Given the description of an element on the screen output the (x, y) to click on. 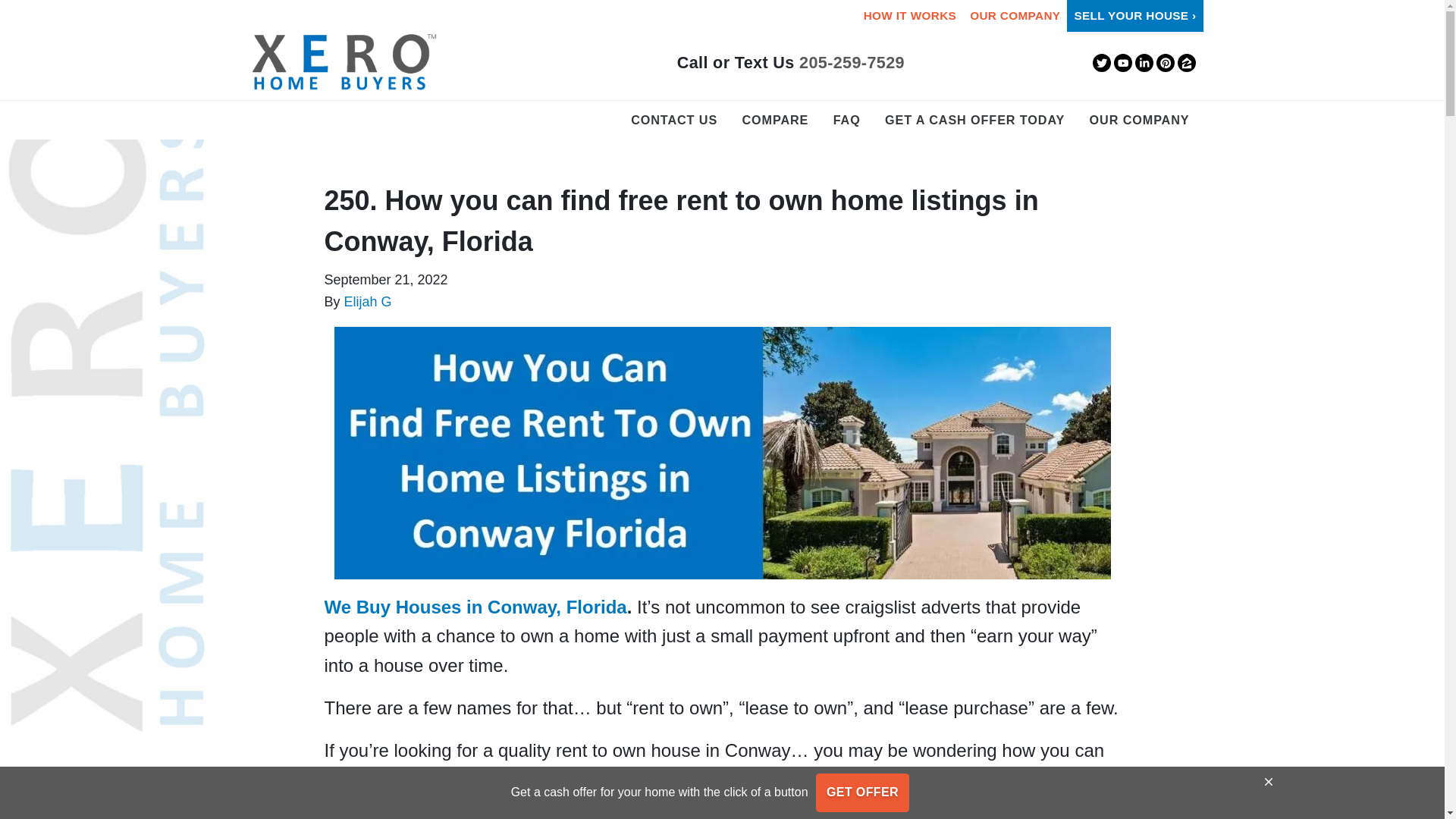
LinkedIn (1144, 63)
CONTACT US (673, 119)
OUR COMPANY (1014, 15)
Contact Us (673, 119)
COMPARE (775, 119)
YouTube (1122, 63)
Elijah G (367, 301)
FAQ (847, 119)
Get A Cash Offer Today (974, 119)
Pinterest (1165, 63)
OUR COMPANY (1139, 119)
GET A CASH OFFER TODAY (974, 119)
FAQ (847, 119)
We Buy Houses in Conway, Florida (475, 607)
Twitter (1101, 63)
